Given the description of an element on the screen output the (x, y) to click on. 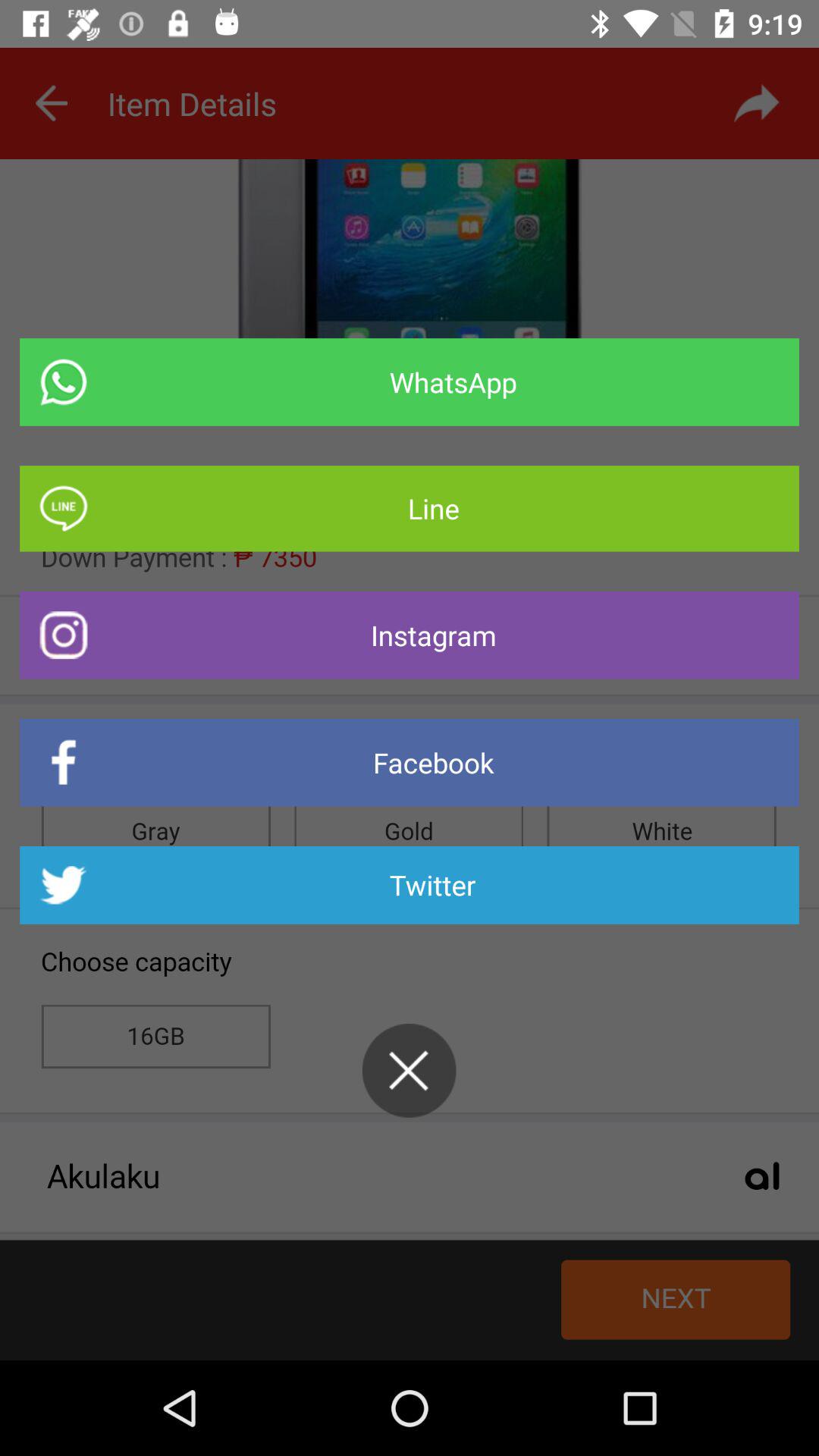
jump until instagram icon (409, 635)
